Given the description of an element on the screen output the (x, y) to click on. 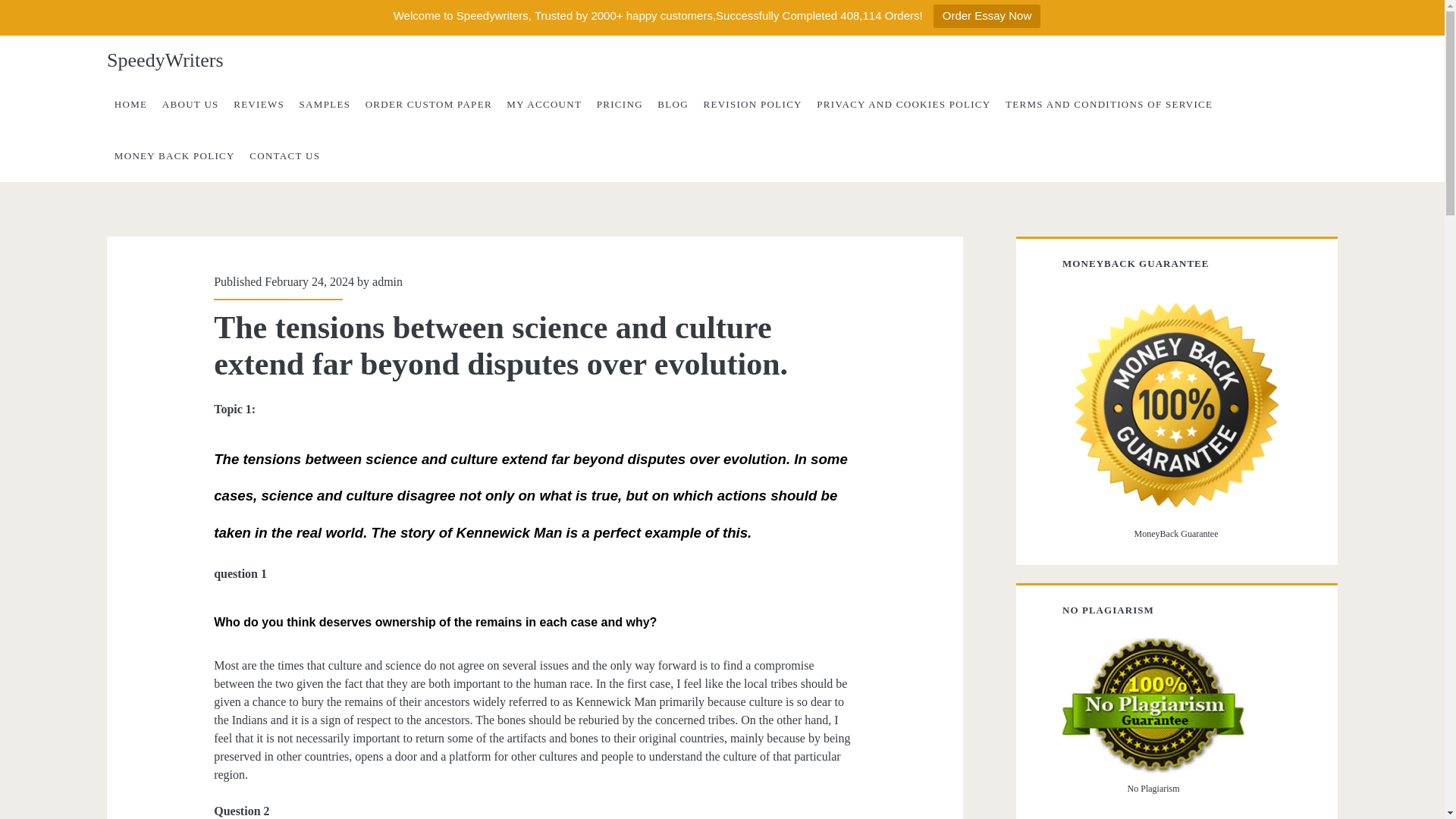
REVISION POLICY (752, 104)
SpeedyWriters (164, 60)
MY ACCOUNT (544, 104)
No Plagiarism (1153, 705)
REVIEWS (258, 104)
ORDER CUSTOM PAPER (428, 104)
PRIVACY AND COOKIES POLICY (903, 104)
MONEY BACK POLICY (173, 155)
Posts by admin (387, 281)
TERMS AND CONDITIONS OF SERVICE (1108, 104)
